Given the description of an element on the screen output the (x, y) to click on. 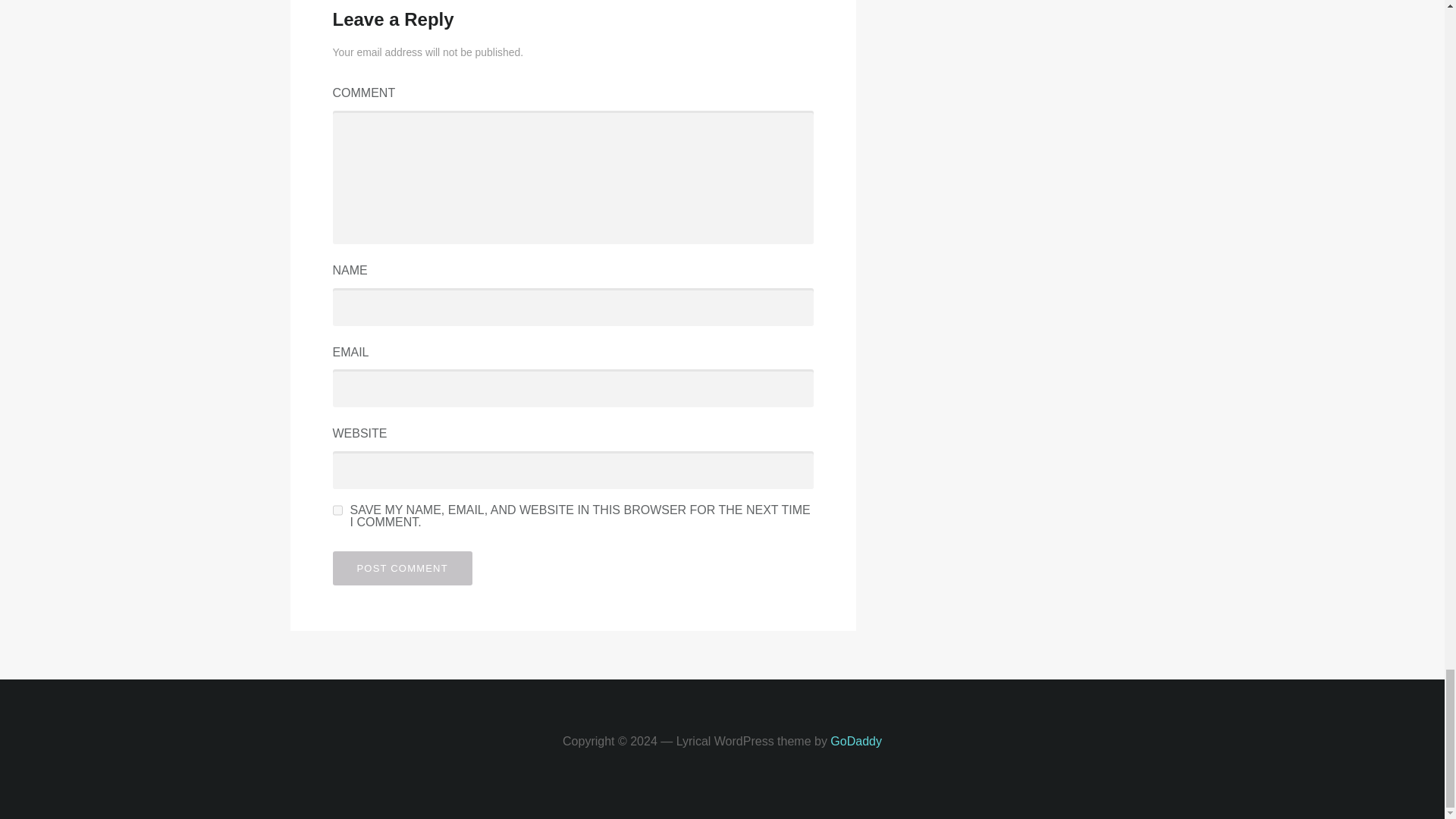
Post Comment (401, 568)
